Given the description of an element on the screen output the (x, y) to click on. 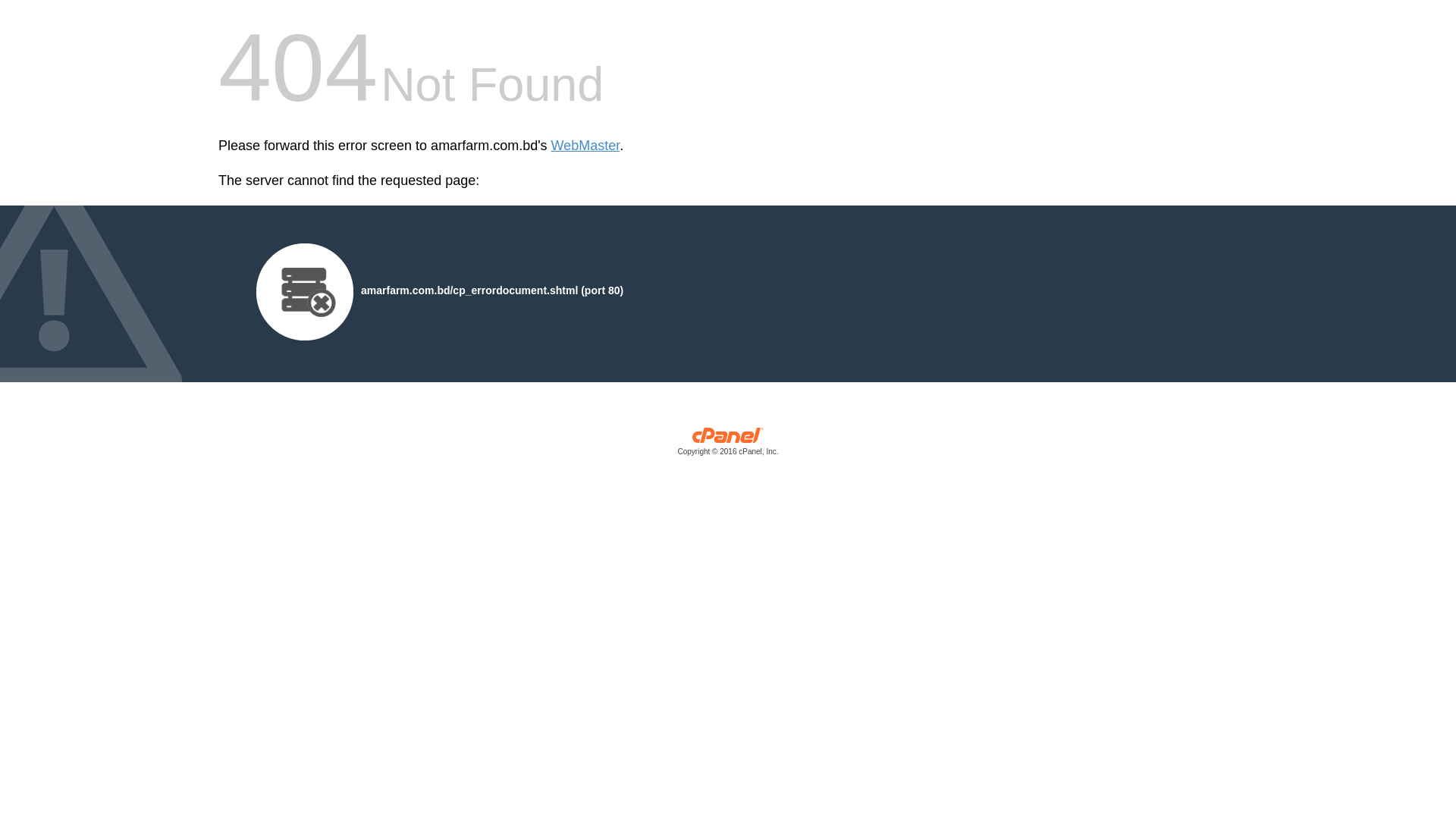
WebMaster Element type: text (585, 145)
